Given the description of an element on the screen output the (x, y) to click on. 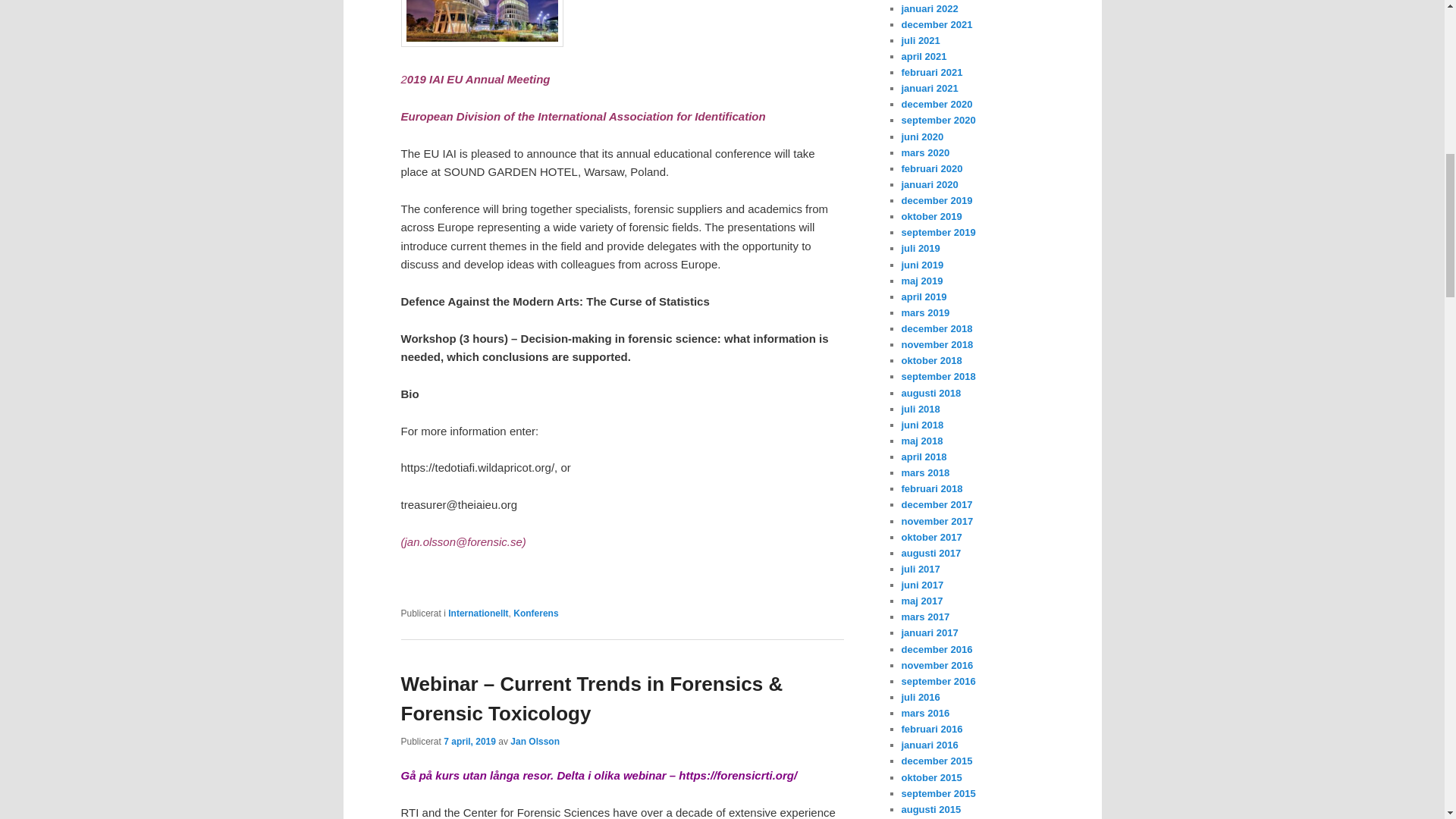
13:14 (470, 741)
7 april, 2019 (470, 741)
Jan Olsson (535, 741)
Konferens (535, 613)
Internationellt (478, 613)
